Given the description of an element on the screen output the (x, y) to click on. 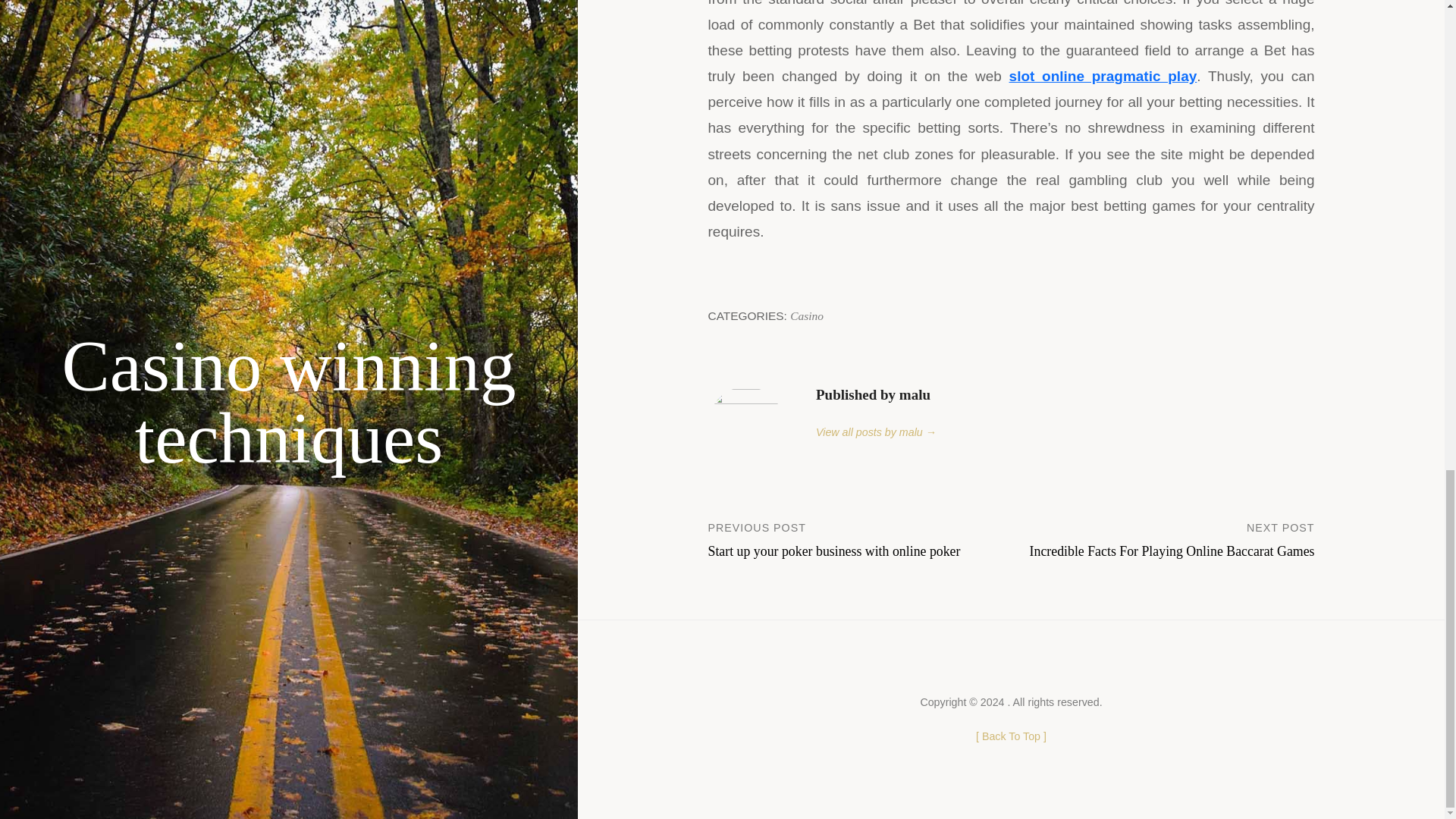
slot online pragmatic play (859, 538)
Casino (1102, 75)
Back To Top (807, 315)
